Given the description of an element on the screen output the (x, y) to click on. 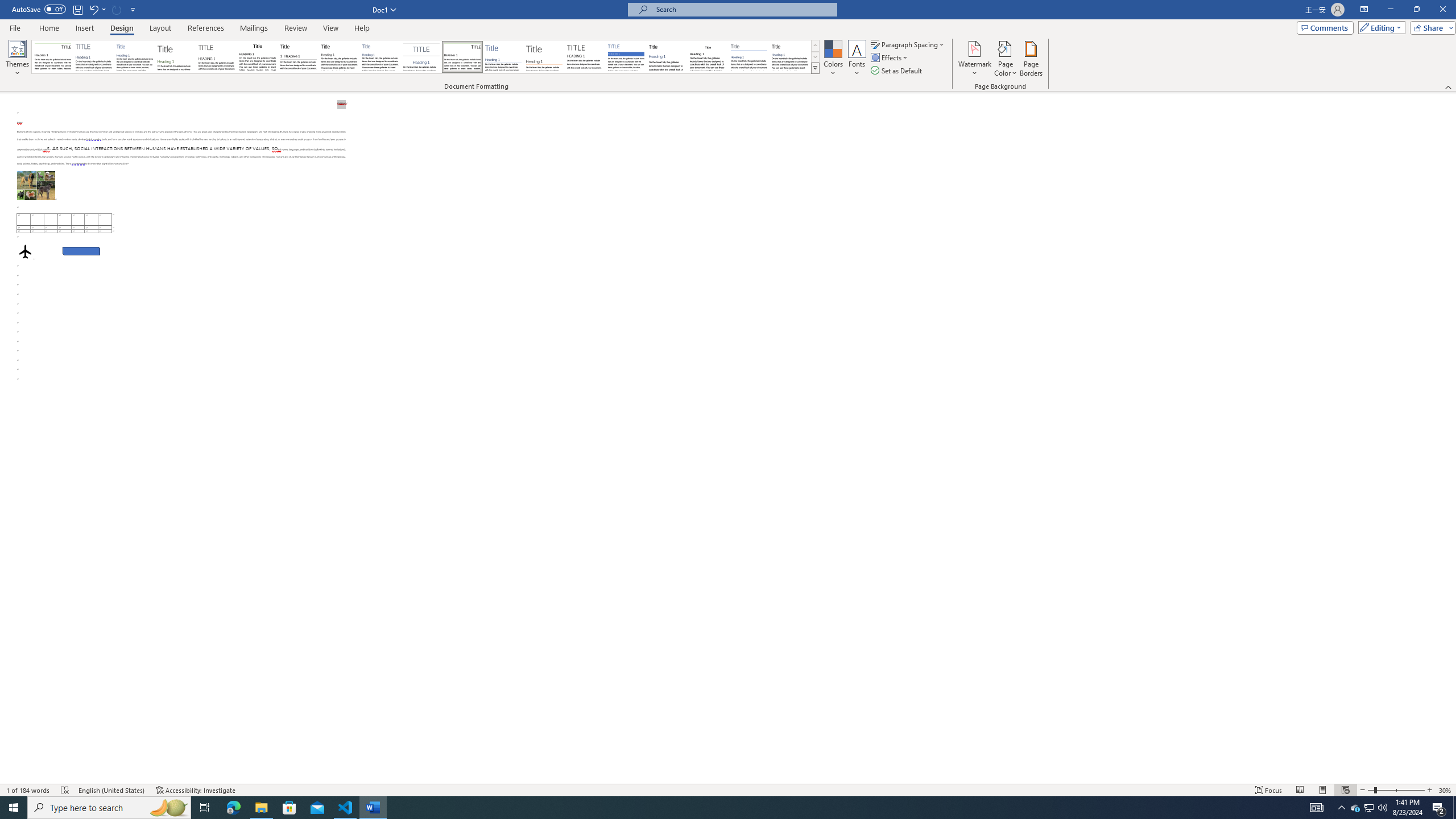
Shaded (625, 56)
Centered (421, 56)
Lines (Simple) (503, 56)
Can't Repeat (117, 9)
AutomationID: QuickStylesSets (425, 56)
Watermark (974, 58)
